Given the description of an element on the screen output the (x, y) to click on. 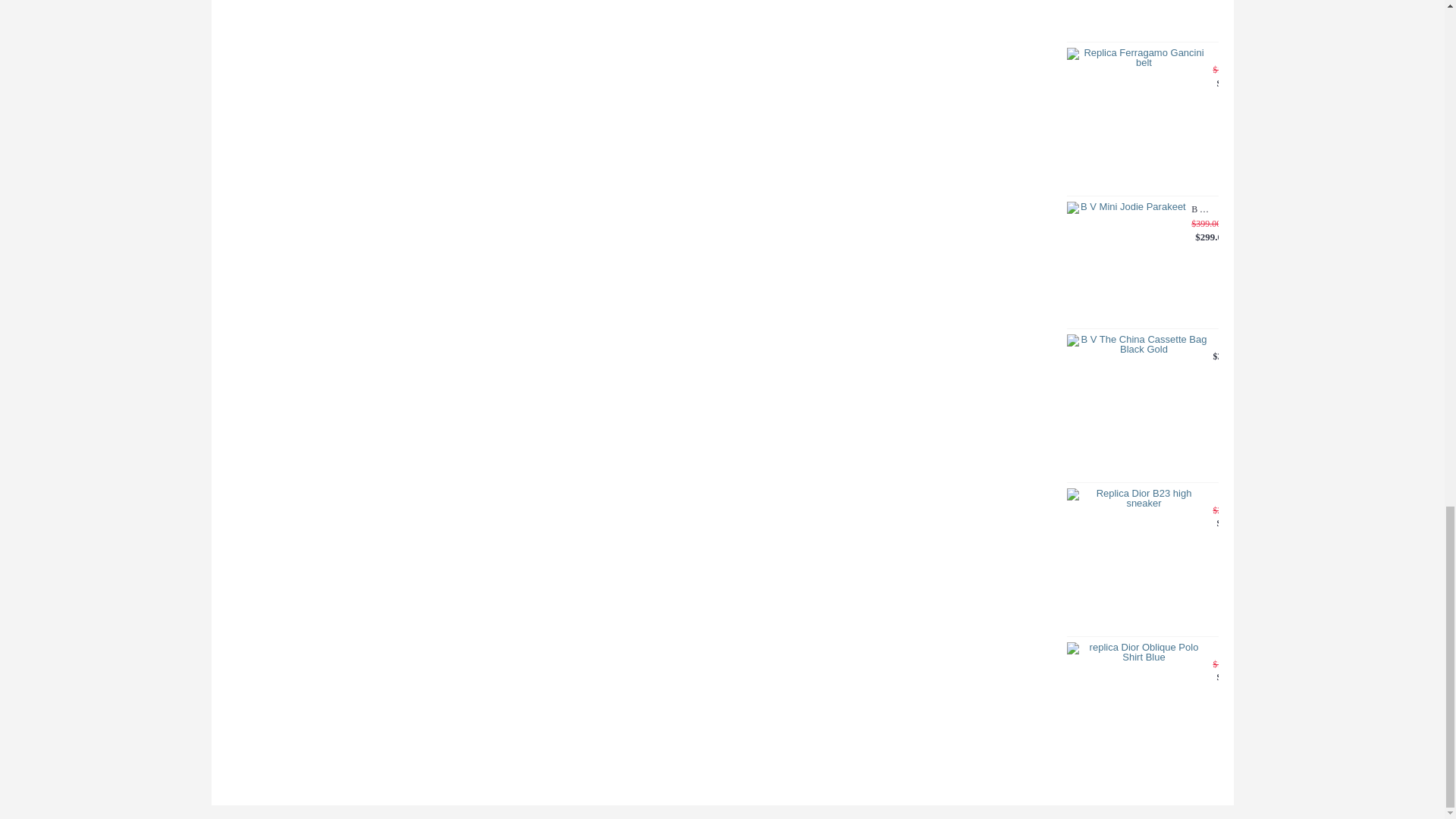
B V The China Cassette Bag Black Gold (1136, 405)
Dior Oblique Polo Shirt Blue (1136, 713)
B V Mini Jodie Parakeet (1126, 261)
Ferragamo adjustable Gancini belt  (1136, 118)
Dior B23 High-Top Sneaker Gray (1136, 559)
